Given the description of an element on the screen output the (x, y) to click on. 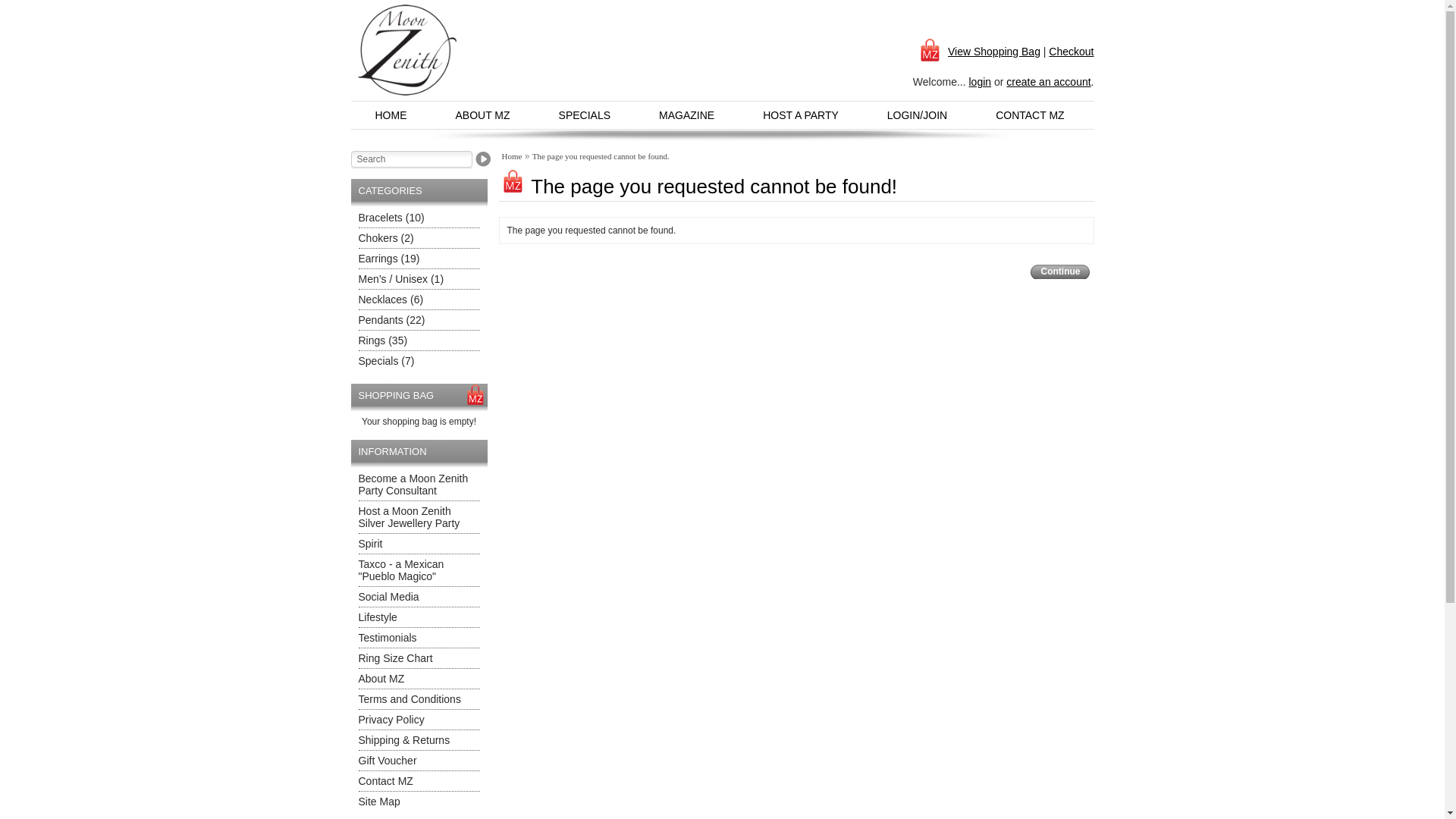
Terms and Conditions Element type: text (408, 699)
ABOUT MZ Element type: text (481, 114)
Continue Element type: text (1058, 271)
create an account Element type: text (1048, 81)
Become a Moon Zenith Party Consultant Element type: text (412, 484)
login Element type: text (979, 81)
LOGIN/JOIN Element type: text (916, 114)
Moon Zenith Element type: hover (407, 49)
About MZ Element type: text (380, 678)
The page you requested cannot be found. Element type: text (600, 155)
Bracelets (10) Element type: text (390, 217)
Pendants (22) Element type: text (390, 319)
Spirit Element type: text (369, 543)
MAGAZINE Element type: text (686, 114)
Earrings (19) Element type: text (388, 258)
Home Element type: text (512, 155)
Specials (7) Element type: text (385, 360)
Testimonials Element type: text (386, 637)
Privacy Policy Element type: text (390, 719)
Checkout Element type: text (1070, 51)
Gift Voucher Element type: text (386, 760)
View Shopping Bag Element type: text (978, 51)
Necklaces (6) Element type: text (390, 299)
Rings (35) Element type: text (382, 340)
Taxco - a Mexican "Pueblo Magico" Element type: text (400, 570)
Social Media Element type: text (387, 596)
Advertisement Element type: hover (685, 56)
CONTACT MZ Element type: text (1028, 114)
HOST A PARTY Element type: text (800, 114)
Site Map Element type: text (378, 801)
Contact MZ Element type: text (384, 781)
Host a Moon Zenith Silver Jewellery Party Element type: text (408, 517)
Chokers (2) Element type: text (385, 238)
Ring Size Chart Element type: text (394, 658)
HOME Element type: text (390, 114)
SPECIALS Element type: text (584, 114)
Shipping & Returns Element type: text (403, 740)
Lifestyle Element type: text (376, 617)
